Given the description of an element on the screen output the (x, y) to click on. 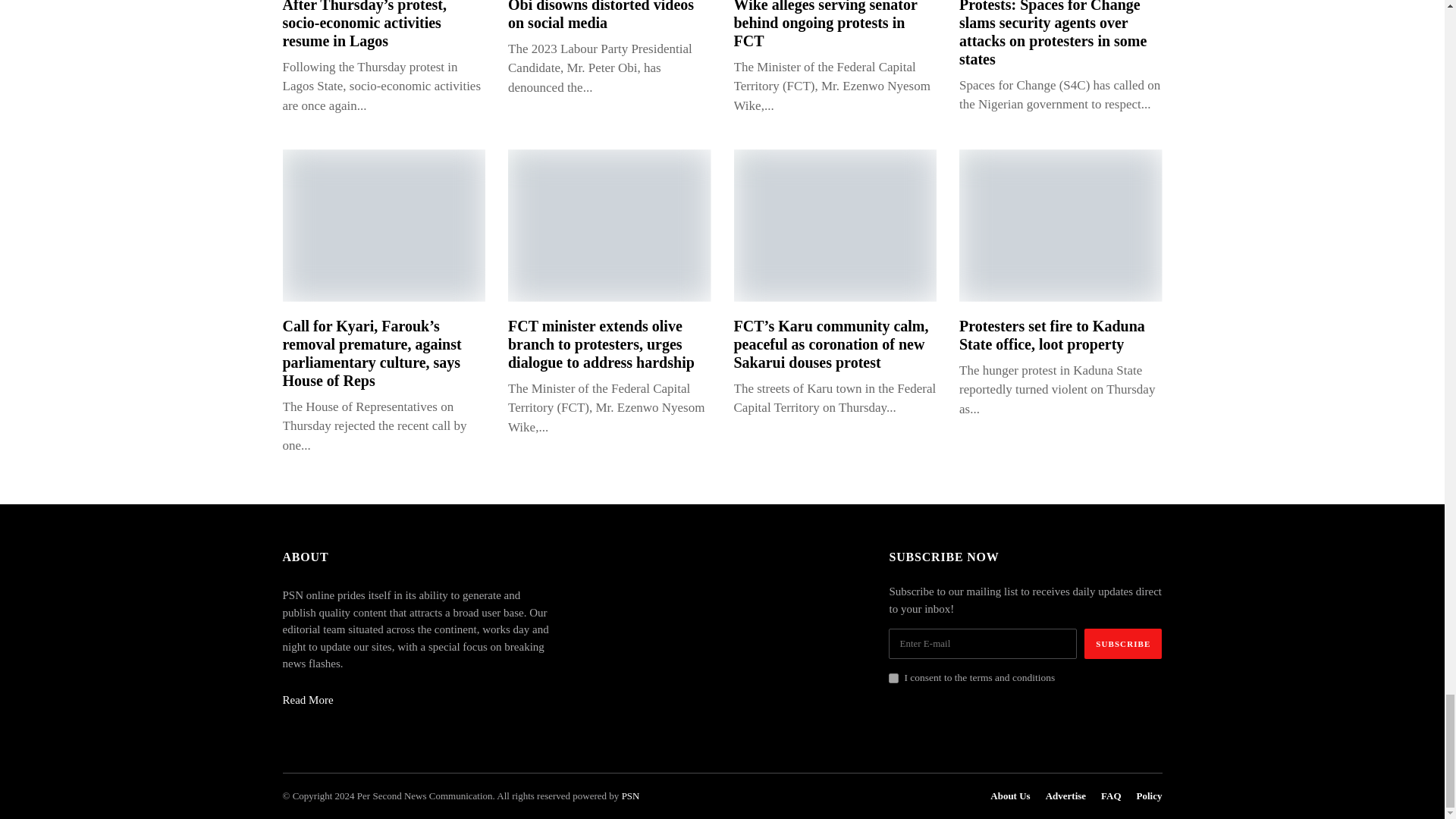
1 (893, 678)
Subscribe (1122, 643)
